Given the description of an element on the screen output the (x, y) to click on. 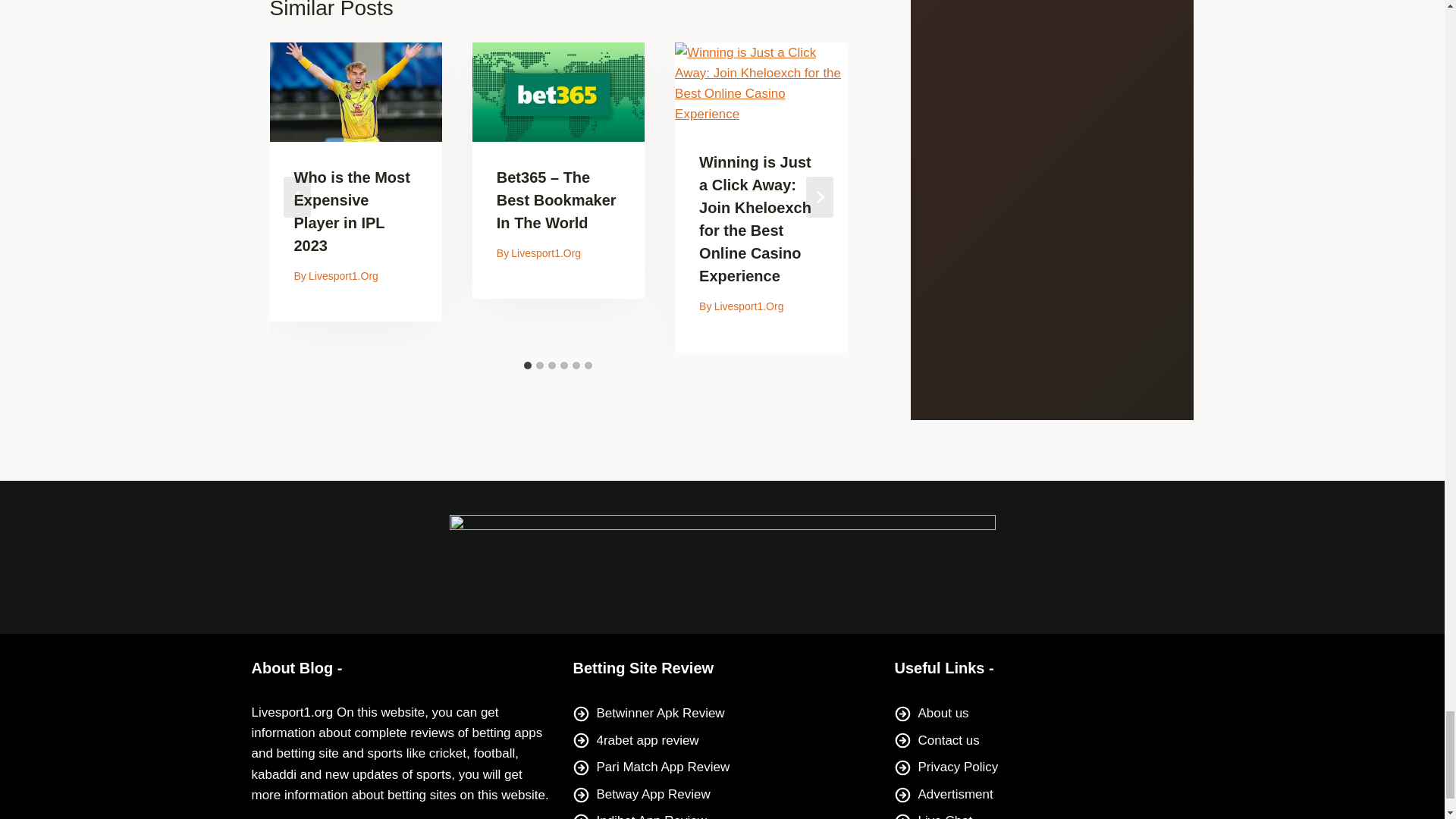
Who is the Most Expensive Player in IPL 2023 (352, 210)
Livesport1.Org (343, 275)
Livesport1.Org (749, 306)
Livesport1.Org (545, 253)
